Given the description of an element on the screen output the (x, y) to click on. 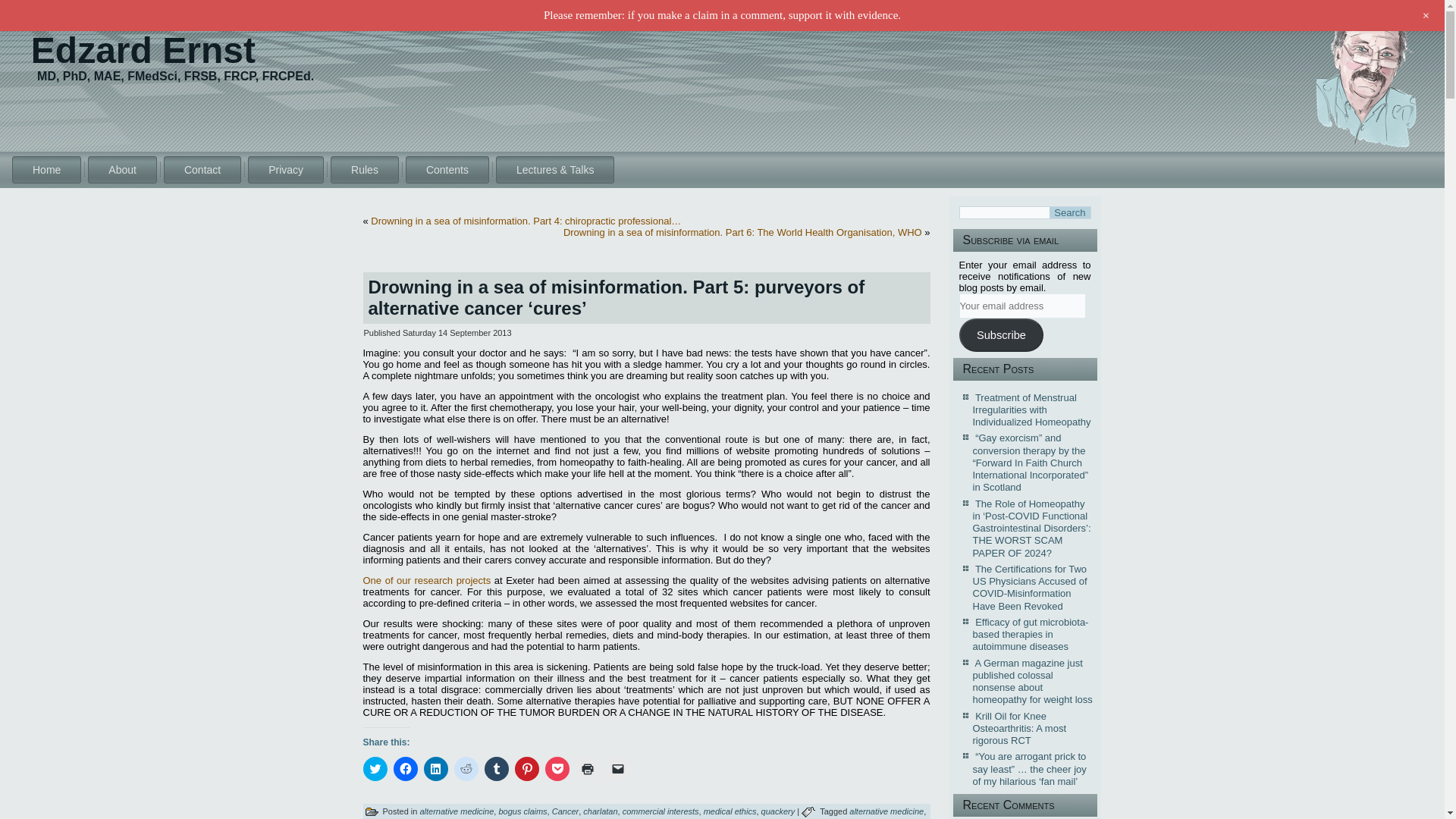
alternative medicine (456, 810)
Cancer (564, 810)
08:39 (457, 332)
One of our research projects (426, 580)
bogus claims (522, 810)
charlatan (600, 810)
medical ethics (730, 810)
Search (1069, 212)
Rules (364, 169)
